Given the description of an element on the screen output the (x, y) to click on. 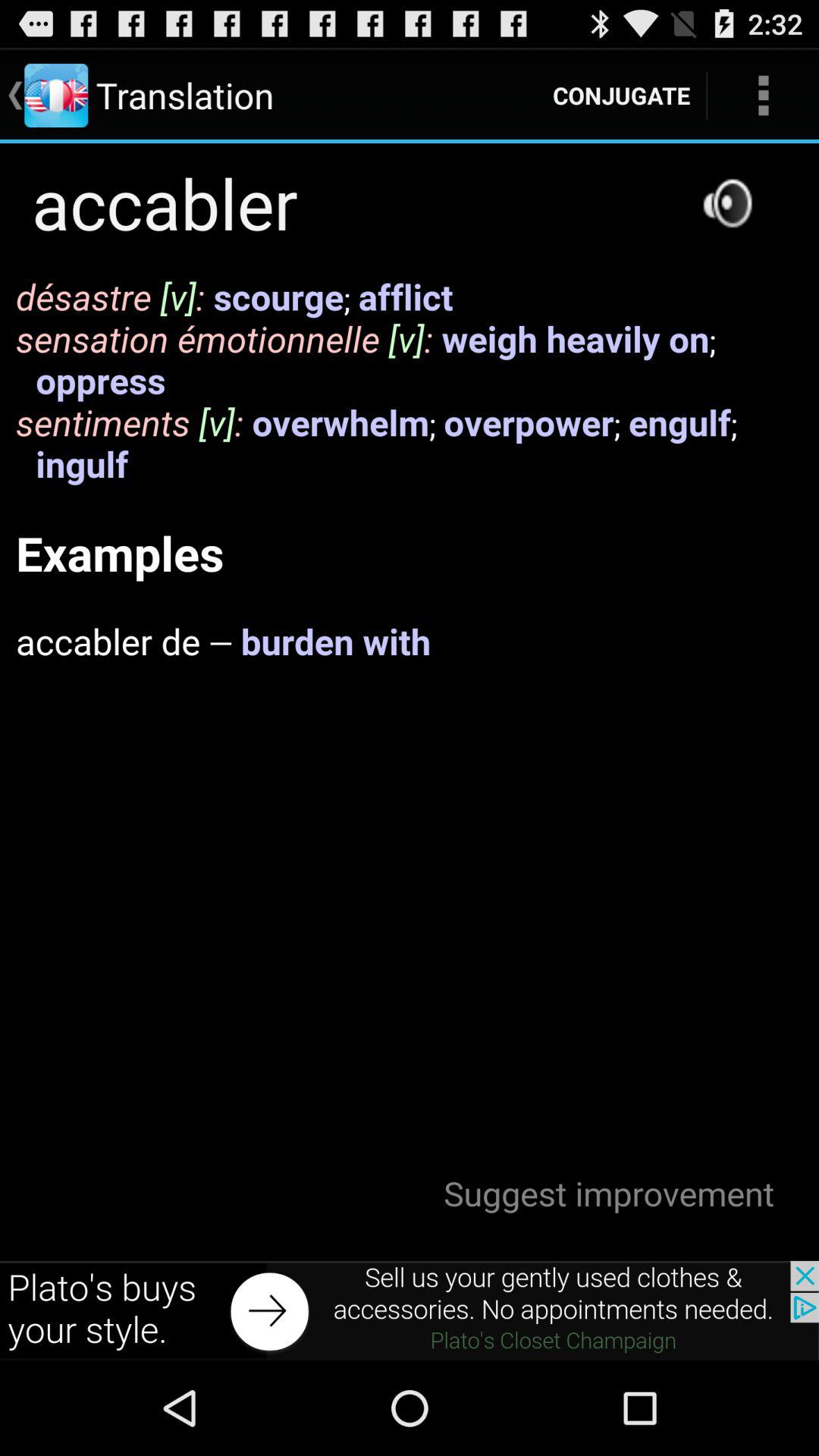
audio option (727, 202)
